Given the description of an element on the screen output the (x, y) to click on. 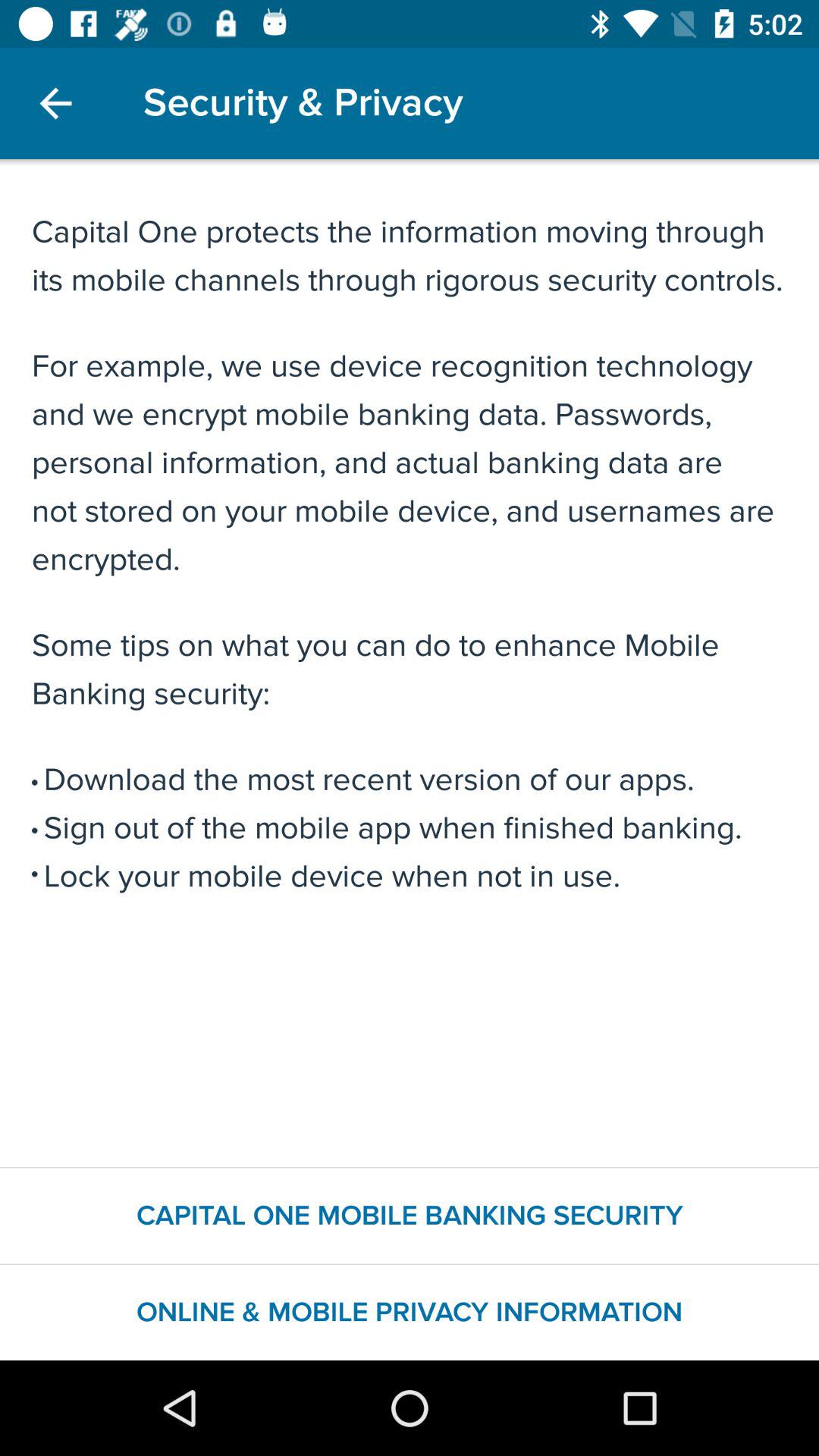
click online mobile privacy item (409, 1312)
